Given the description of an element on the screen output the (x, y) to click on. 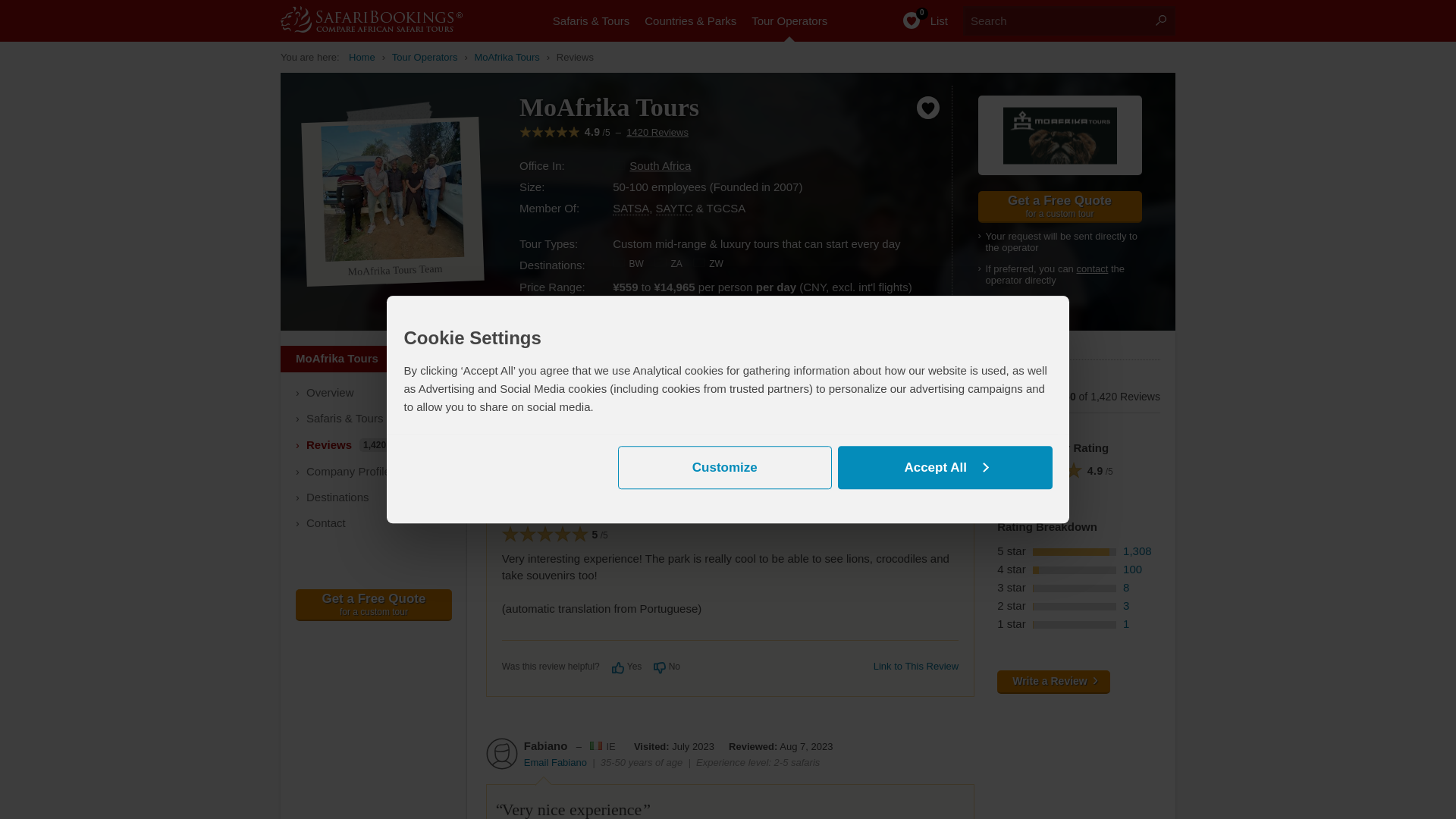
Customize (724, 466)
MoAfrika Tours (506, 57)
Reviews (575, 57)
Favorites List (916, 20)
SafariBookings.com (387, 18)
Submit search query (1160, 20)
SafariBookings.com (362, 57)
Tour Operators (424, 57)
